Given the description of an element on the screen output the (x, y) to click on. 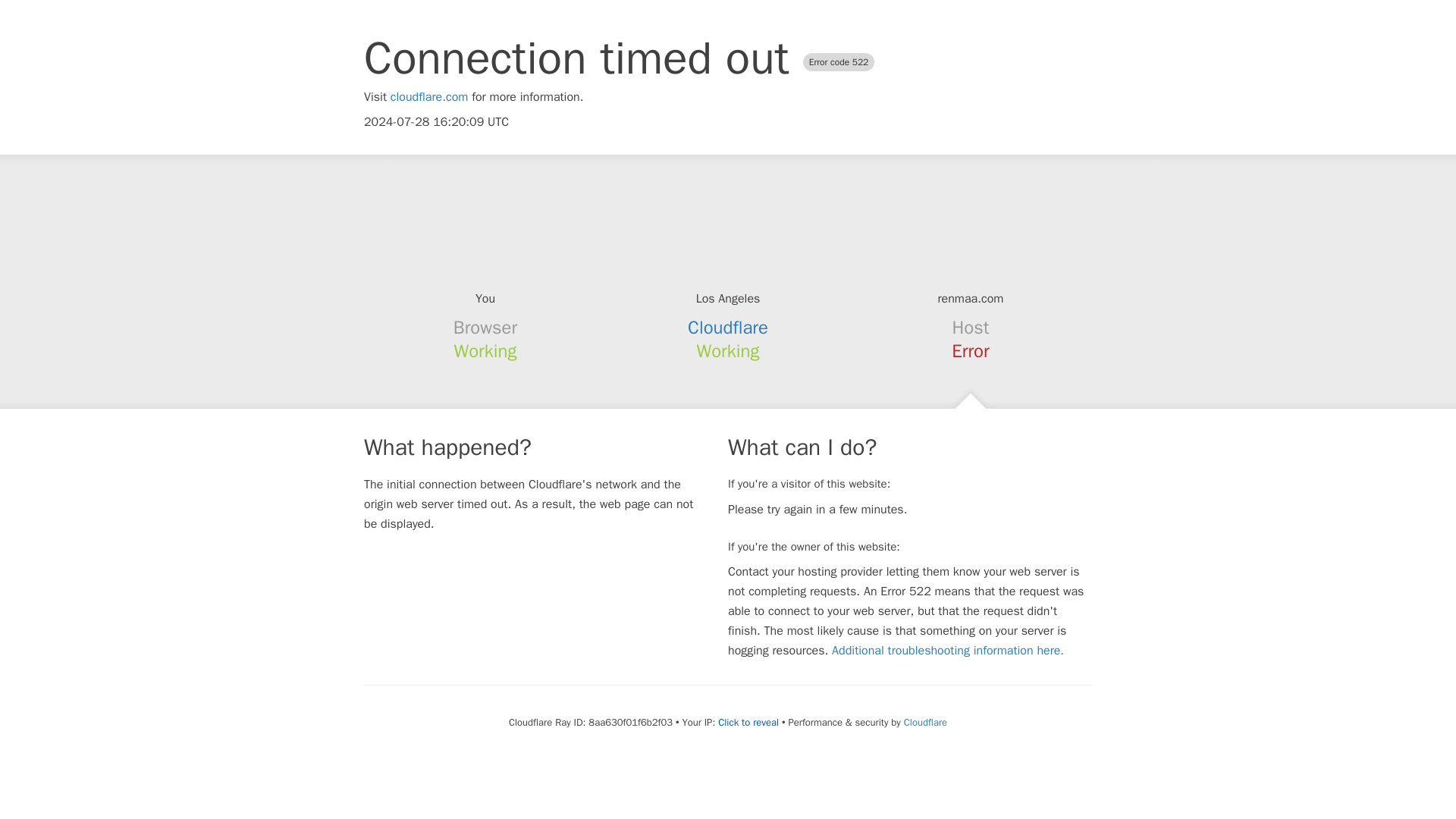
Additional troubleshooting information here. (947, 650)
Click to reveal (747, 722)
Cloudflare (925, 721)
cloudflare.com (429, 96)
Cloudflare (727, 327)
